Given the description of an element on the screen output the (x, y) to click on. 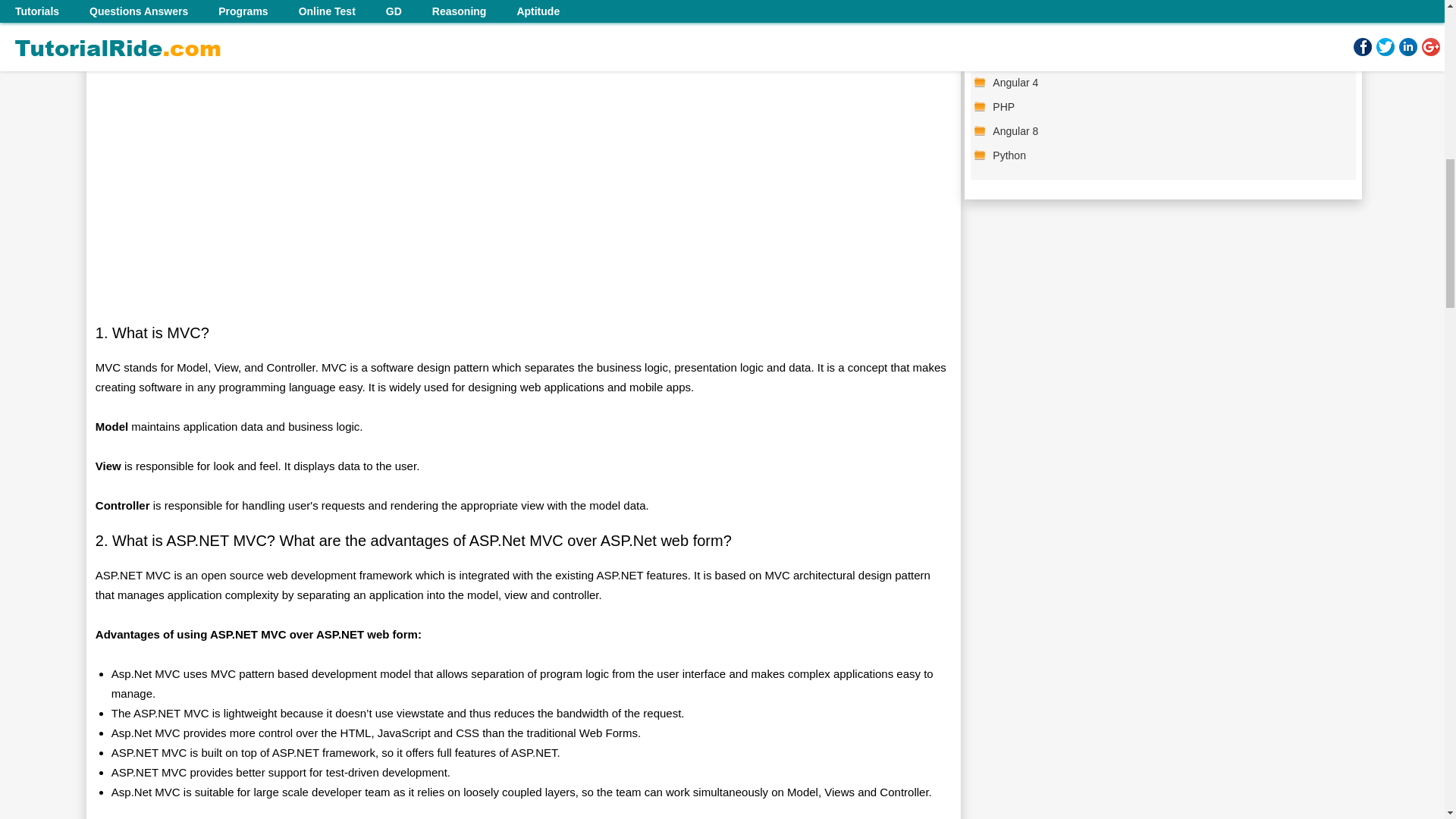
ASP.NET MVC for Freshers (1168, 33)
Node.js (1168, 9)
Angular 8 (1168, 129)
Node.js Interview Questions (1168, 9)
Angular 2 (1168, 56)
Angular 4 Interview Questions and Answers (1168, 81)
ASP.NET MVC interview questions and answers for freshers (1168, 33)
Python (1168, 154)
PHP (1168, 106)
Angular 4 (1168, 81)
